Given the description of an element on the screen output the (x, y) to click on. 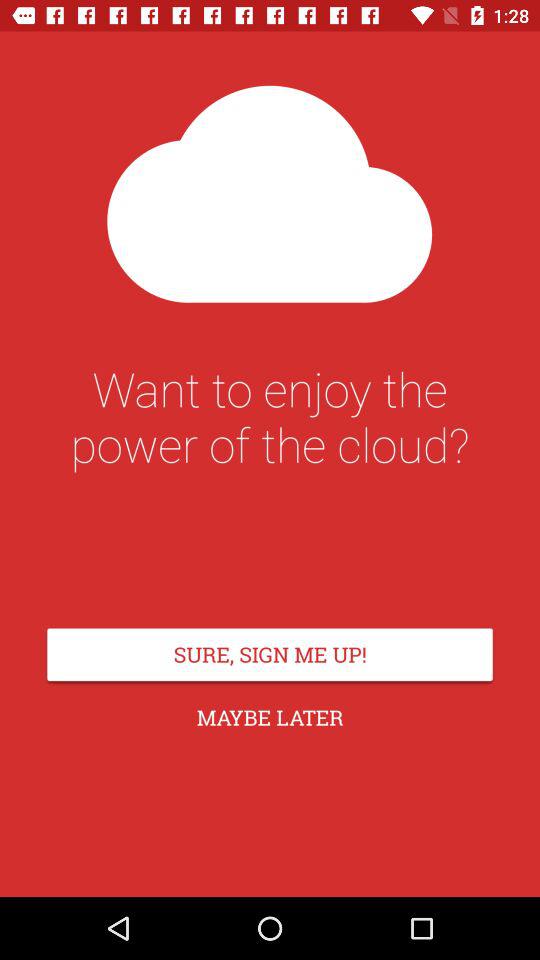
click the icon above maybe later item (269, 654)
